Given the description of an element on the screen output the (x, y) to click on. 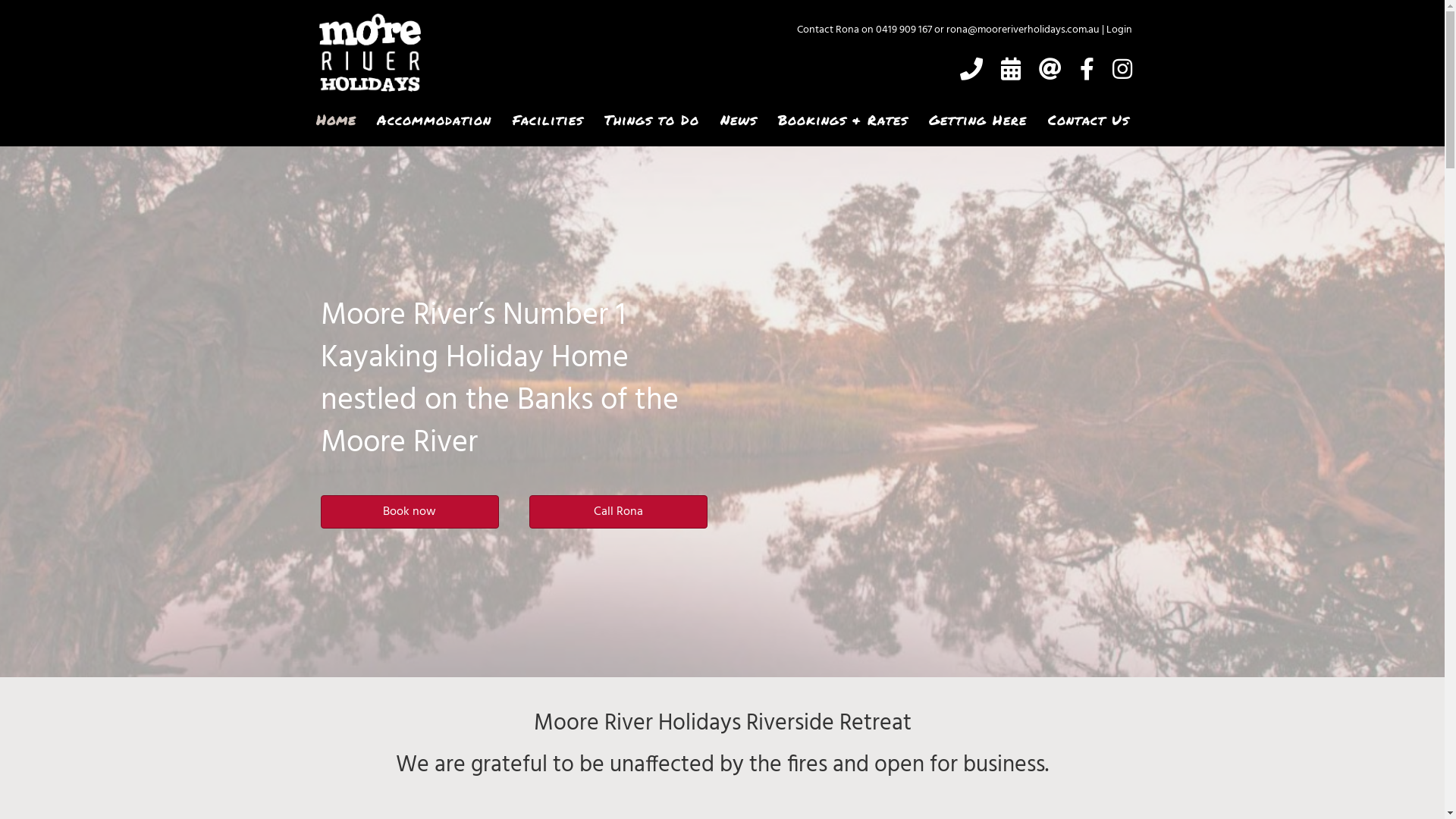
News Element type: text (737, 120)
Contact Us Element type: text (1088, 120)
rona@mooreriverholidays.com.au Element type: text (1022, 29)
Things to Do Element type: text (651, 120)
Book now Element type: text (409, 511)
Call Rona Element type: text (618, 511)
Login Element type: text (1118, 29)
Accommodation Element type: text (433, 120)
Home Element type: text (335, 120)
0419 909 167 Element type: text (903, 29)
Facilities Element type: text (547, 120)
Bookings & Rates Element type: text (842, 120)
Getting Here Element type: text (977, 120)
Moore River Holidays - Logo Type - White Element type: hover (368, 52)
